Given the description of an element on the screen output the (x, y) to click on. 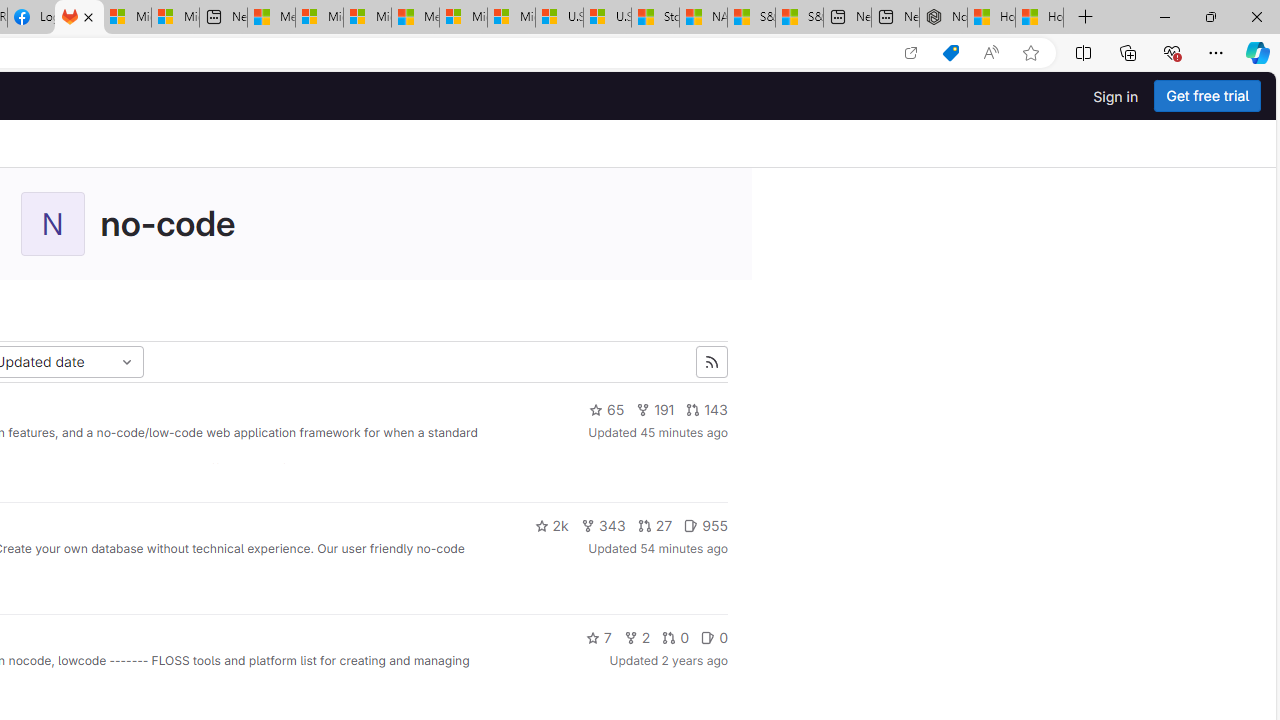
27 (655, 525)
Class: s16 dropdown-menu-toggle-icon (126, 362)
0 (714, 637)
Get free trial (1207, 95)
https://dev.tiki.org/Where-To-Commit (283, 468)
